Given the description of an element on the screen output the (x, y) to click on. 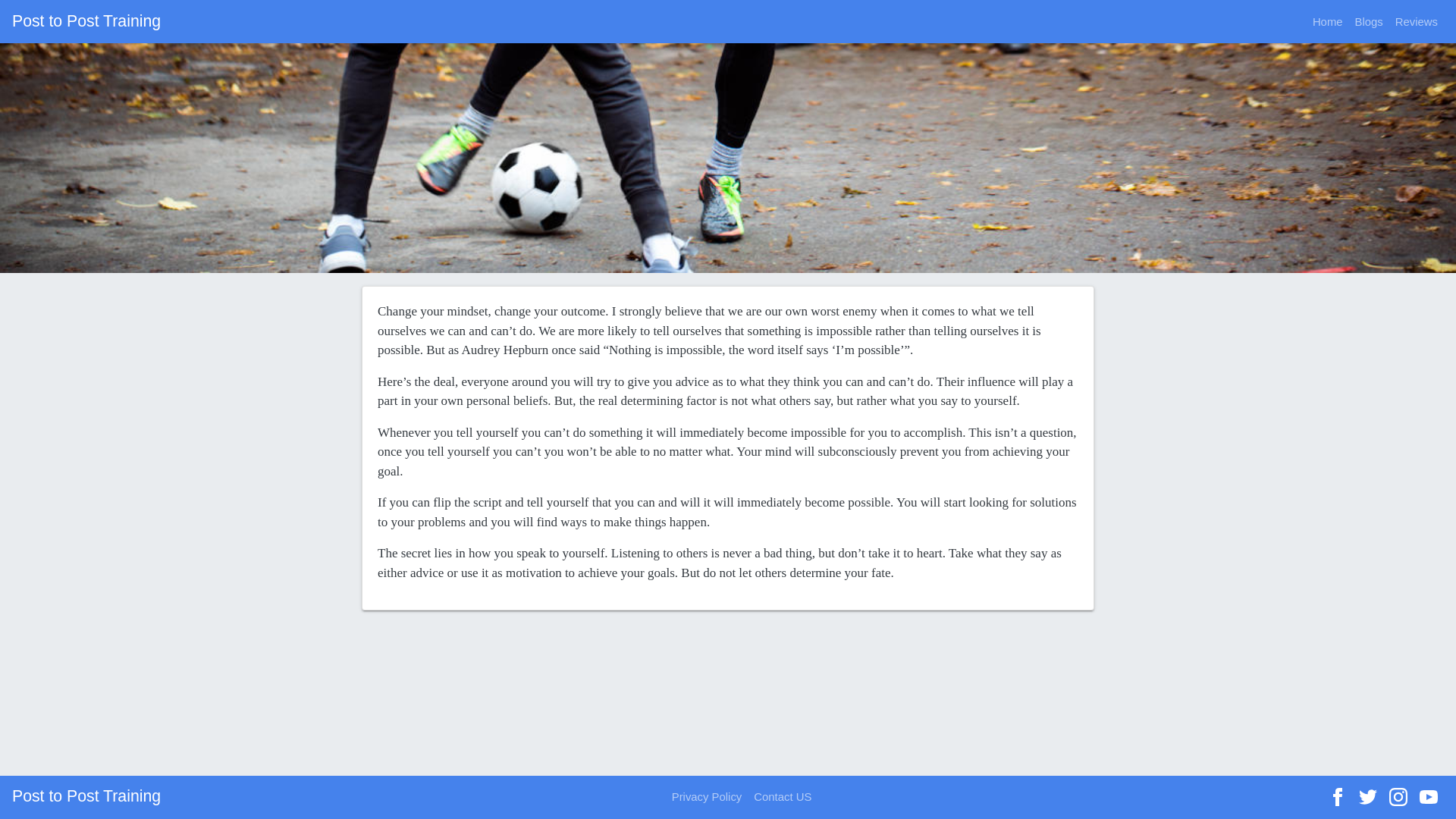
Post to Post Training (85, 20)
Post to Post Training (85, 797)
Blogs (1369, 21)
Reviews (1416, 21)
Contact US (782, 796)
Privacy Policy (706, 796)
Home (1327, 21)
